Given the description of an element on the screen output the (x, y) to click on. 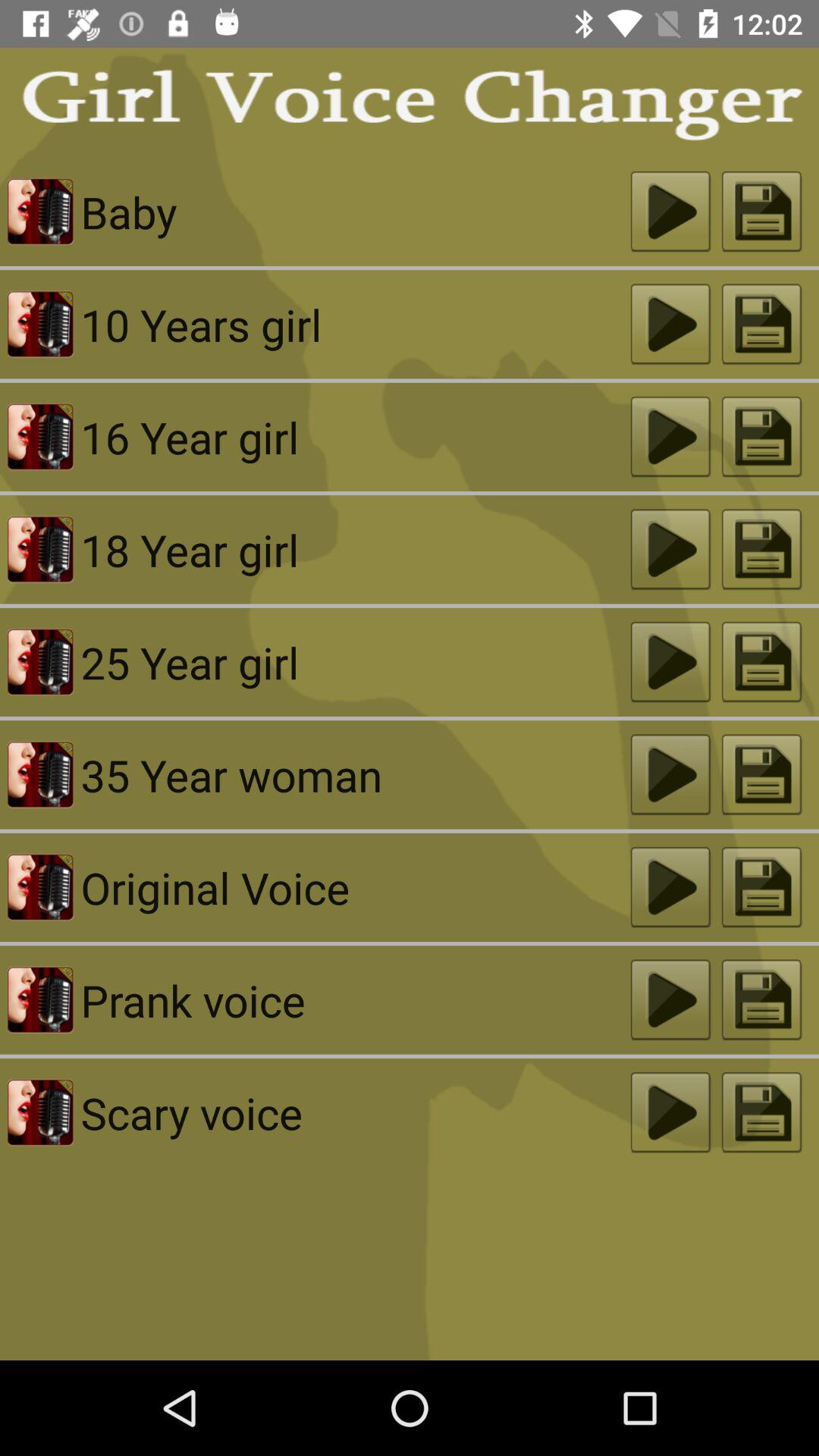
select the scary voice  icon (355, 1112)
